Given the description of an element on the screen output the (x, y) to click on. 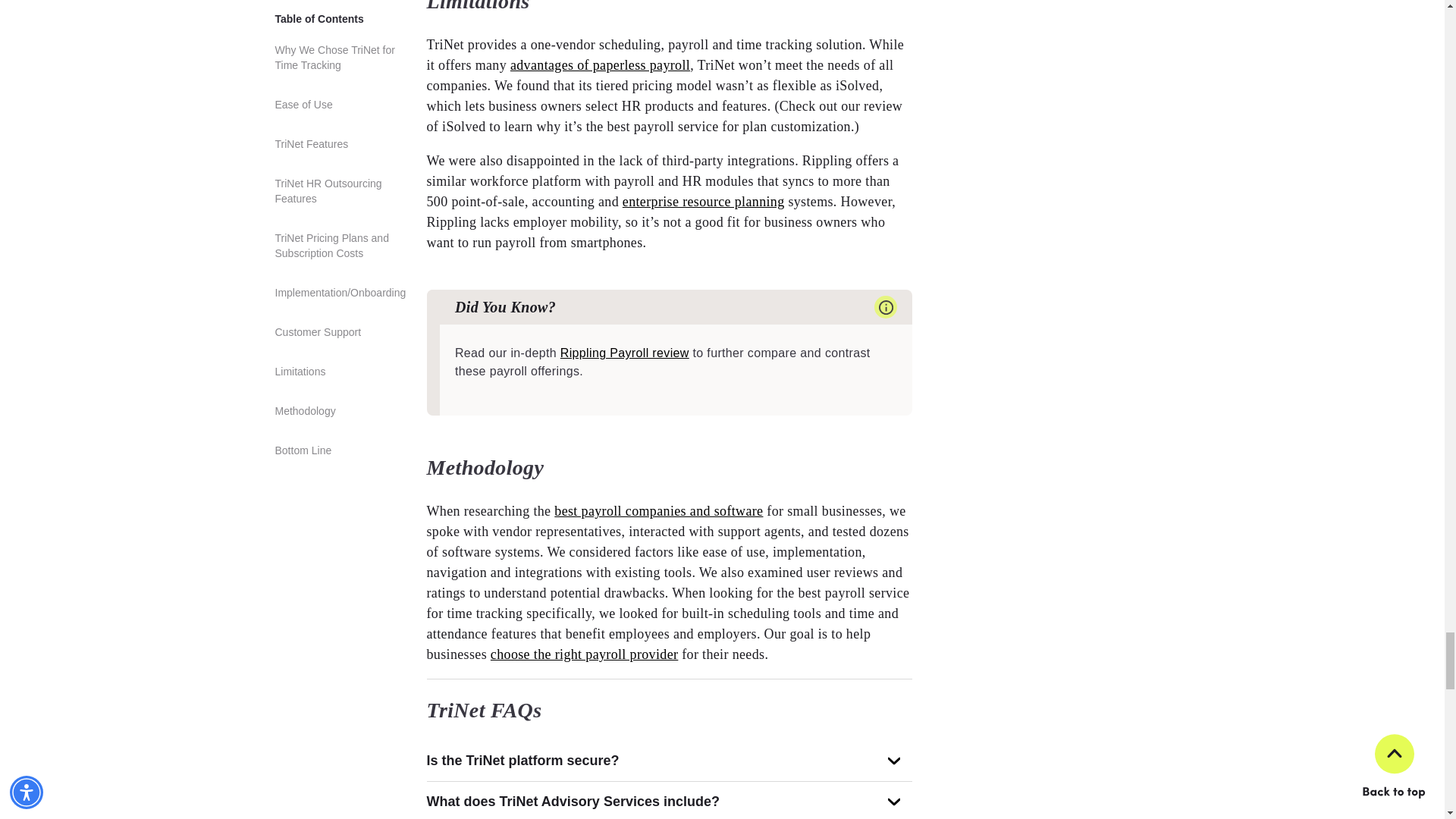
Open row (892, 760)
